Given the description of an element on the screen output the (x, y) to click on. 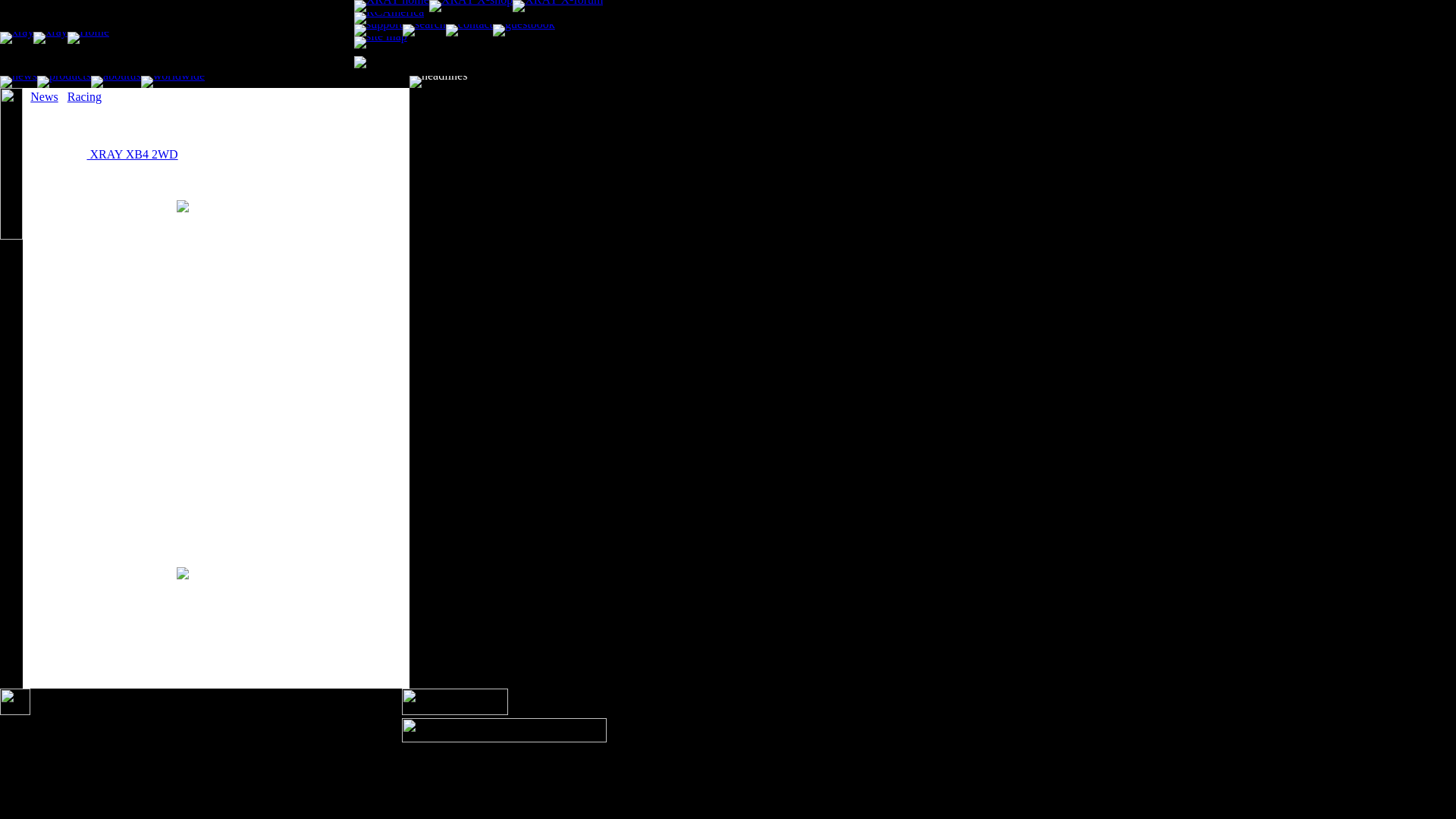
 XRAY XB4 2WD (131, 154)
News (44, 96)
Racing (83, 96)
